Given the description of an element on the screen output the (x, y) to click on. 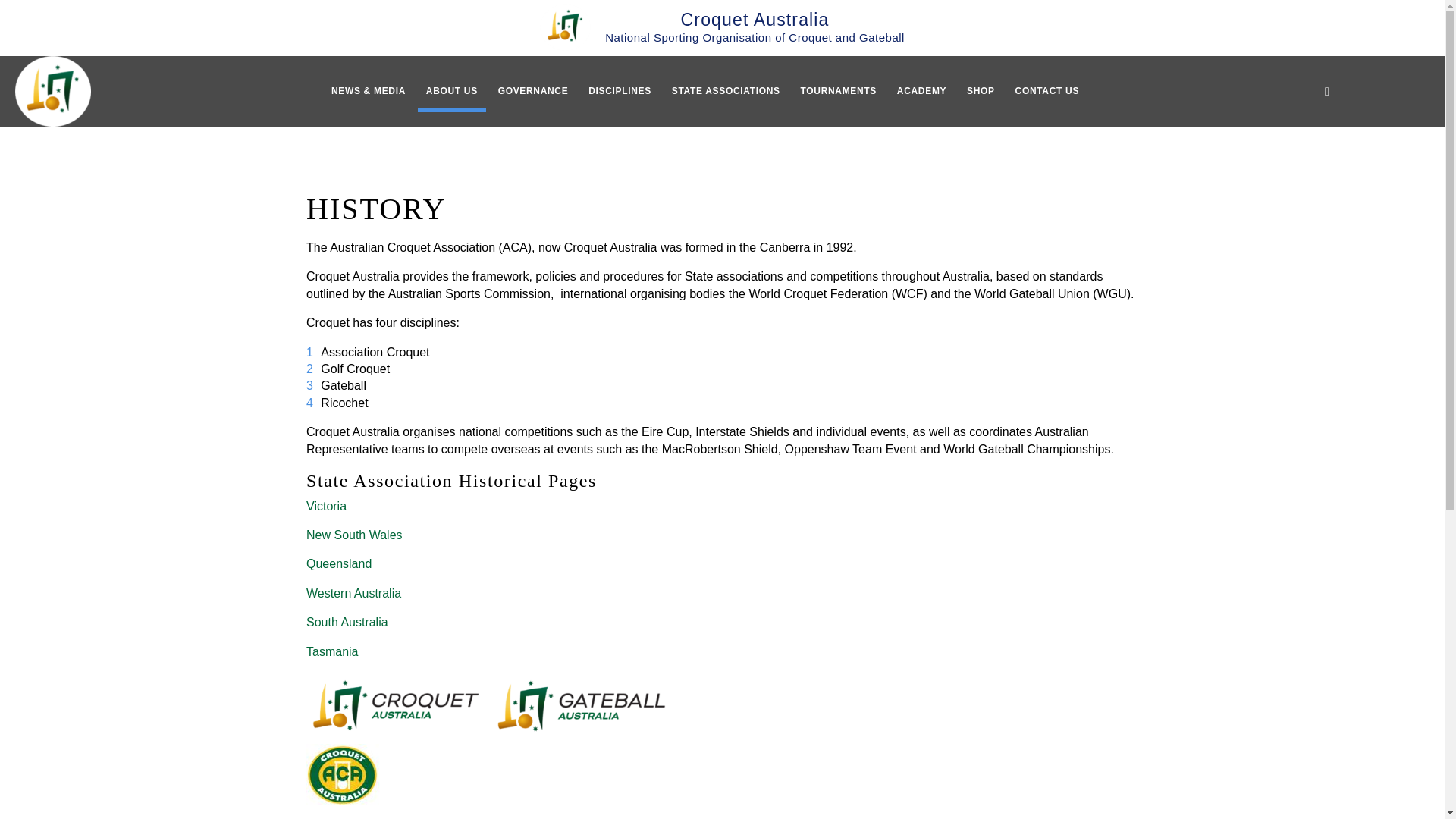
Search (1326, 91)
DISCIPLINES (619, 91)
GOVERNANCE (532, 91)
Croquet Australia (52, 90)
STATE ASSOCIATIONS (726, 91)
ABOUT US (451, 91)
Croquet Australia (722, 27)
